Given the description of an element on the screen output the (x, y) to click on. 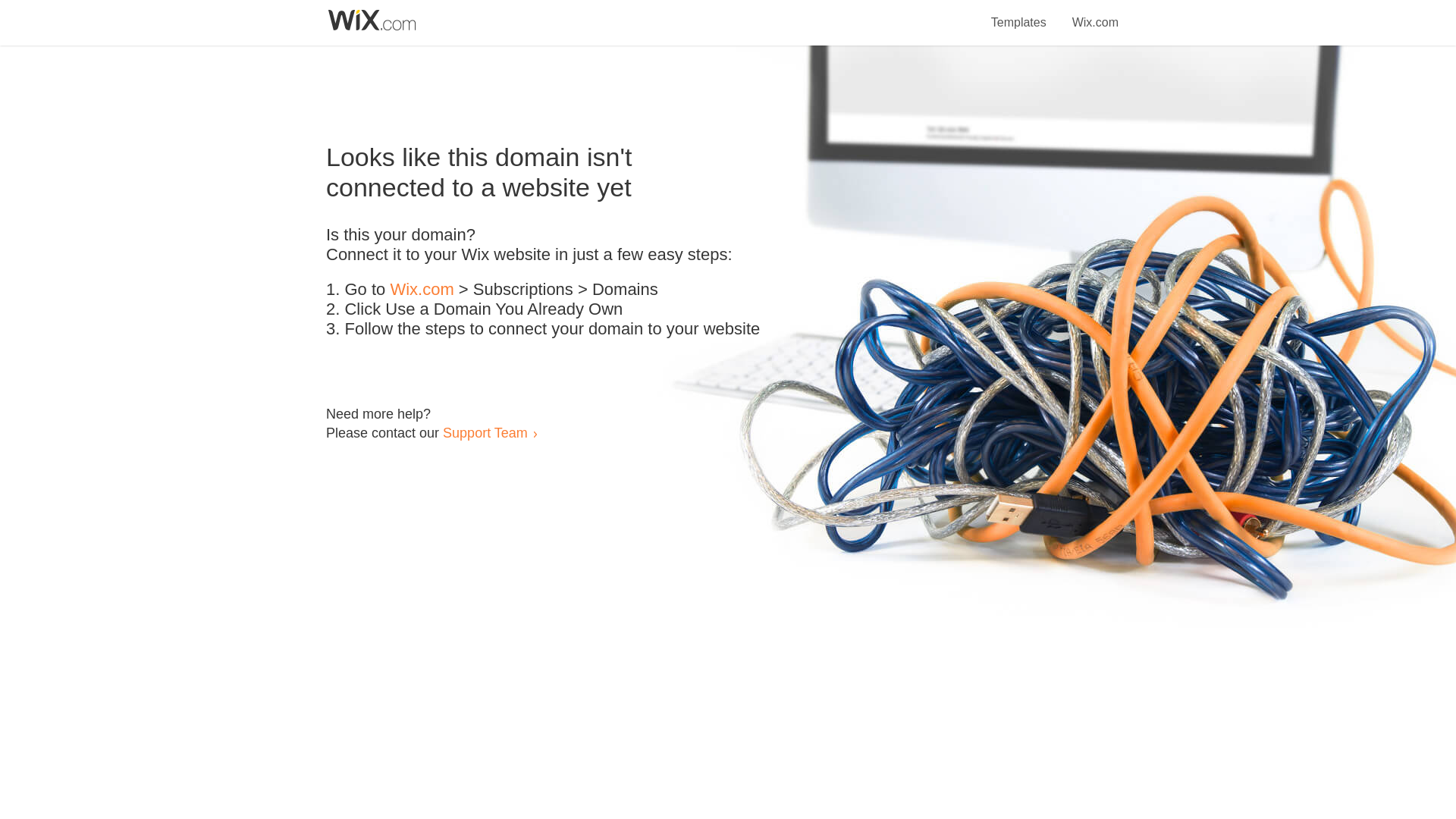
Support Team (484, 432)
Wix.com (421, 289)
Templates (1018, 14)
Wix.com (1095, 14)
